Given the description of an element on the screen output the (x, y) to click on. 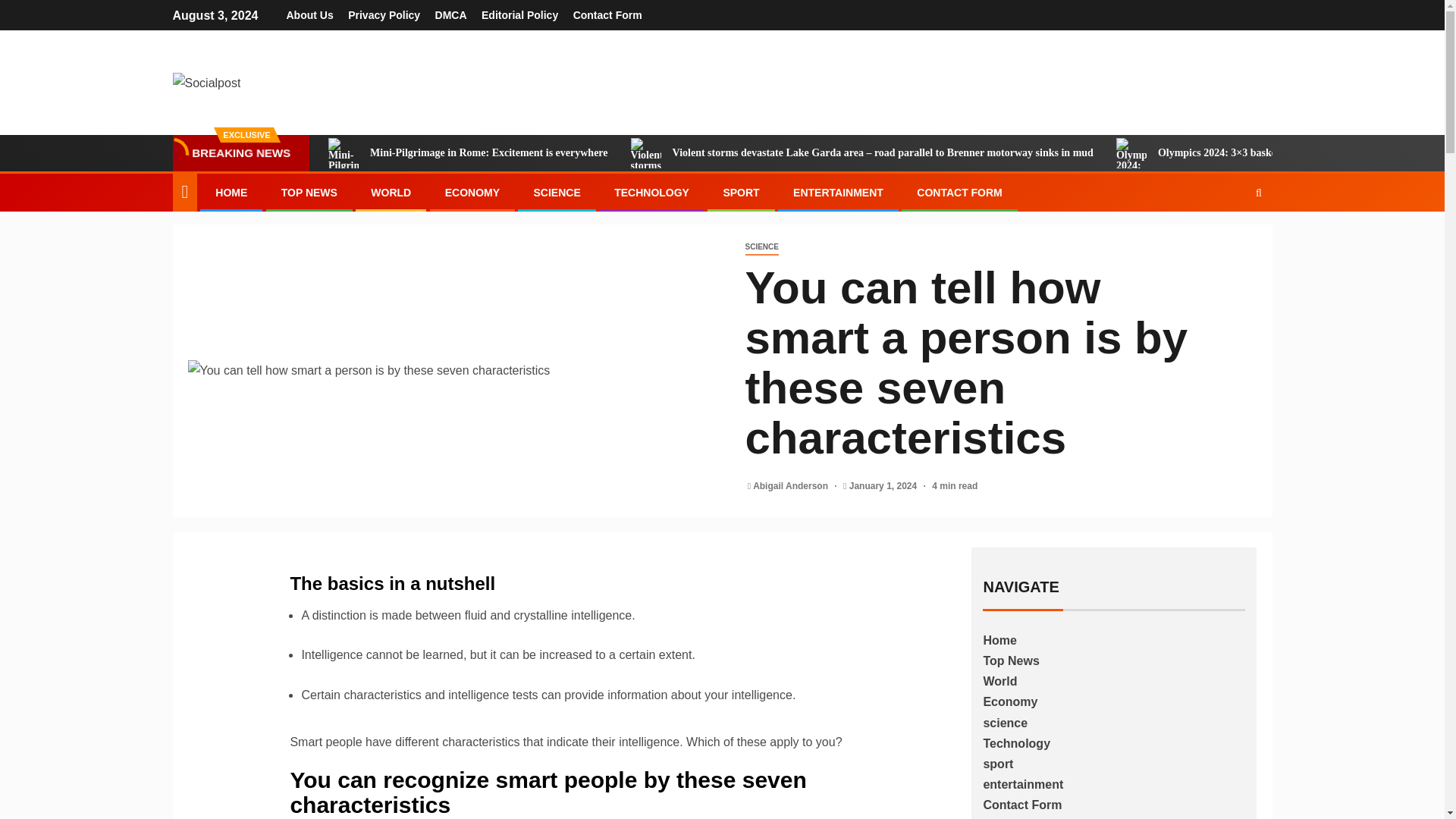
Search (1229, 238)
CONTACT FORM (960, 192)
SCIENCE (555, 192)
ECONOMY (472, 192)
TOP NEWS (309, 192)
WORLD (390, 192)
Abigail Anderson (790, 485)
Privacy Policy (383, 15)
Editorial Policy (519, 15)
About Us (309, 15)
Mini-Pilgrimage in Rome: Excitement is everywhere (467, 153)
SCIENCE (760, 247)
TECHNOLOGY (651, 192)
SPORT (740, 192)
